Given the description of an element on the screen output the (x, y) to click on. 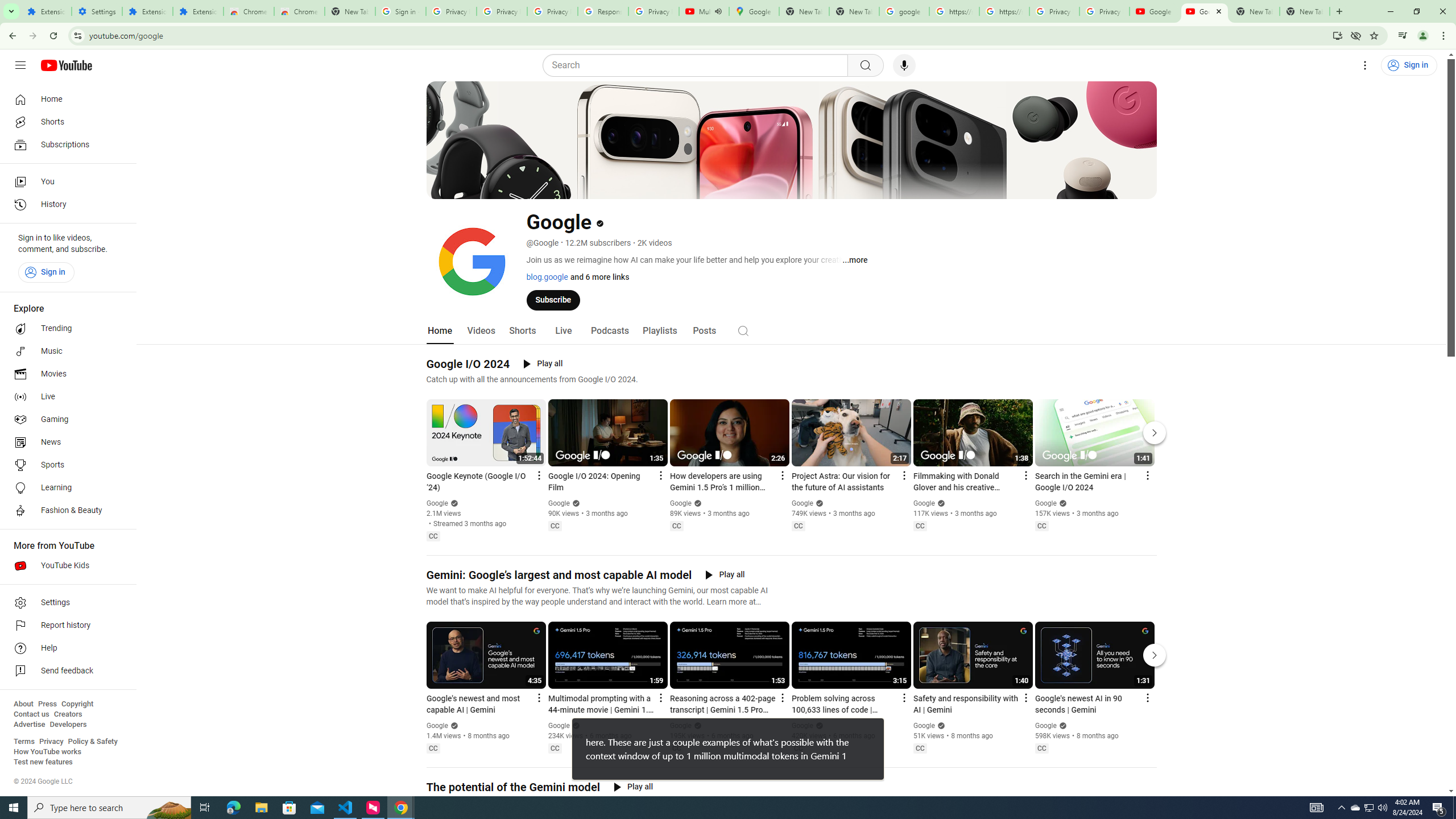
Trending (64, 328)
Copyright (77, 703)
Extensions (46, 11)
and 6 more links (598, 276)
Home (440, 330)
Verified (1061, 725)
Live (64, 396)
